Given the description of an element on the screen output the (x, y) to click on. 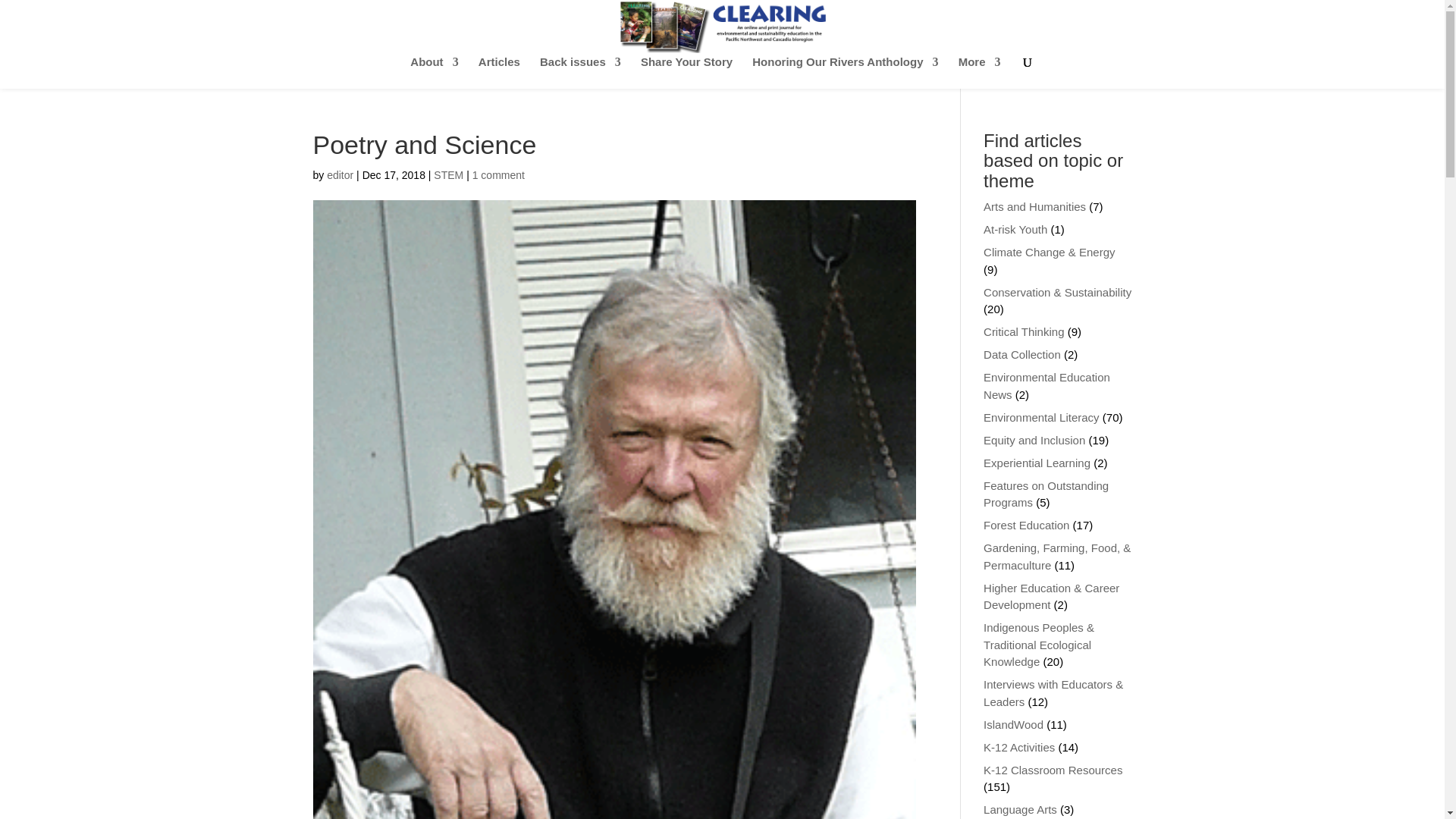
About (434, 72)
Posts by editor (339, 174)
More (979, 72)
Share Your Story (686, 72)
Honoring Our Rivers Anthology (844, 72)
Back issues (580, 72)
Articles (499, 72)
